Given the description of an element on the screen output the (x, y) to click on. 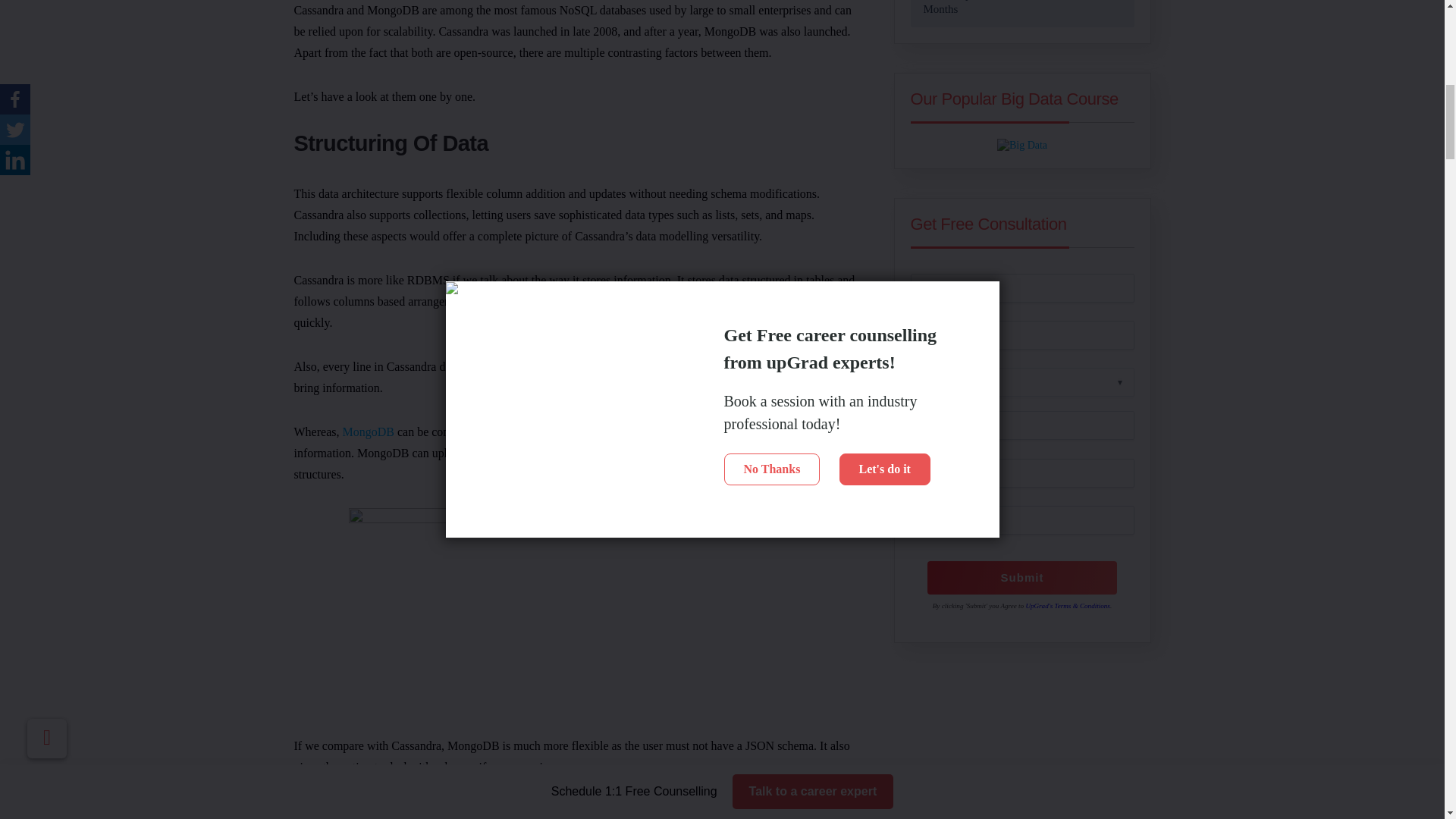
Submit (1022, 577)
